Given the description of an element on the screen output the (x, y) to click on. 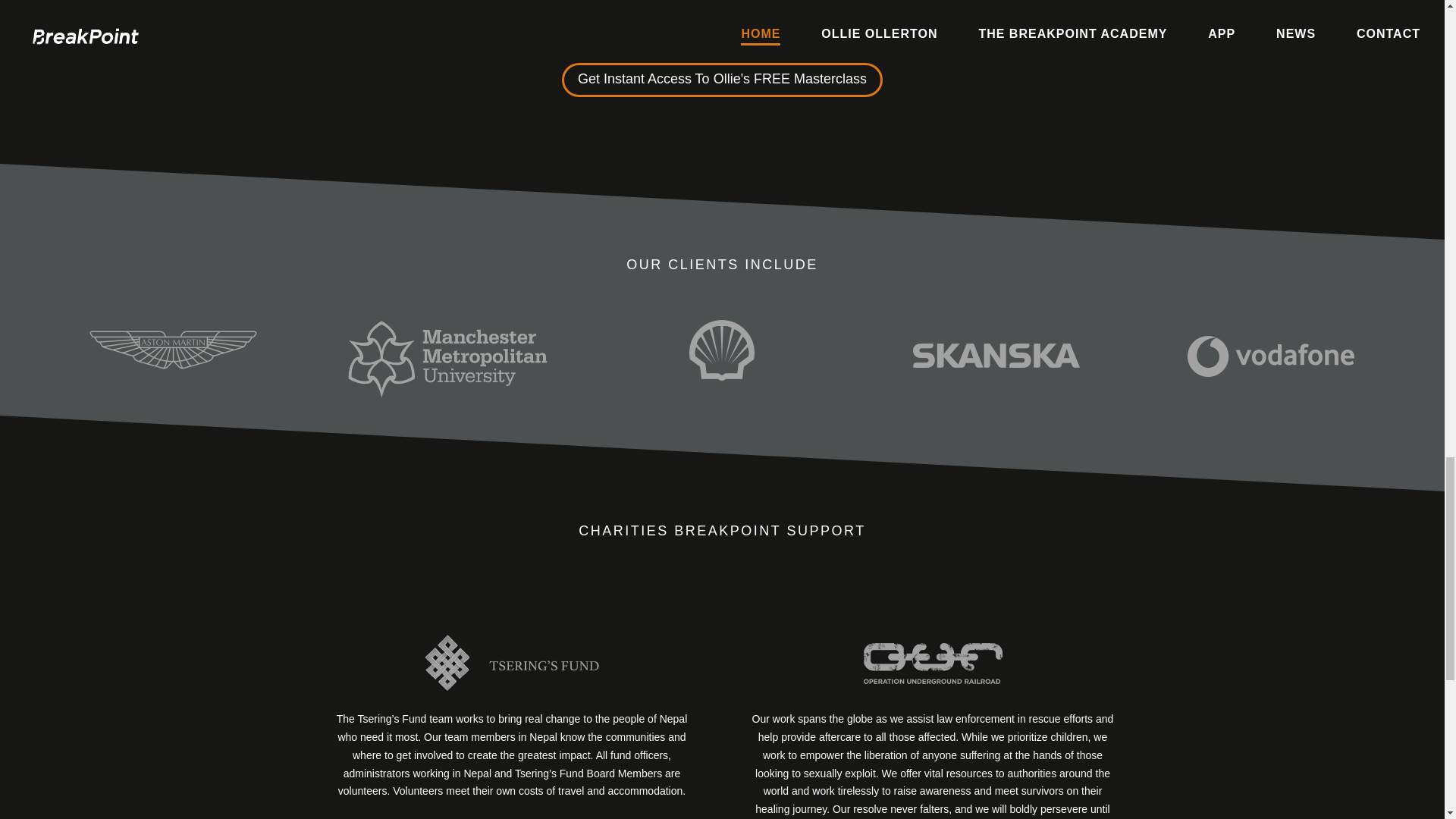
Aston Orange Martin logo working with BreakPoint (172, 349)
Manchester Metropolitan University orange logo  (447, 358)
Vodafone orange logo (1271, 355)
SKANSKA orange logo (996, 355)
Unlock Your Potential: Ollie Ollerton Breakpoint (722, 17)
Get Instant Access To Ollie's FREE Masterclass (722, 80)
Shell orange logo (721, 350)
